Given the description of an element on the screen output the (x, y) to click on. 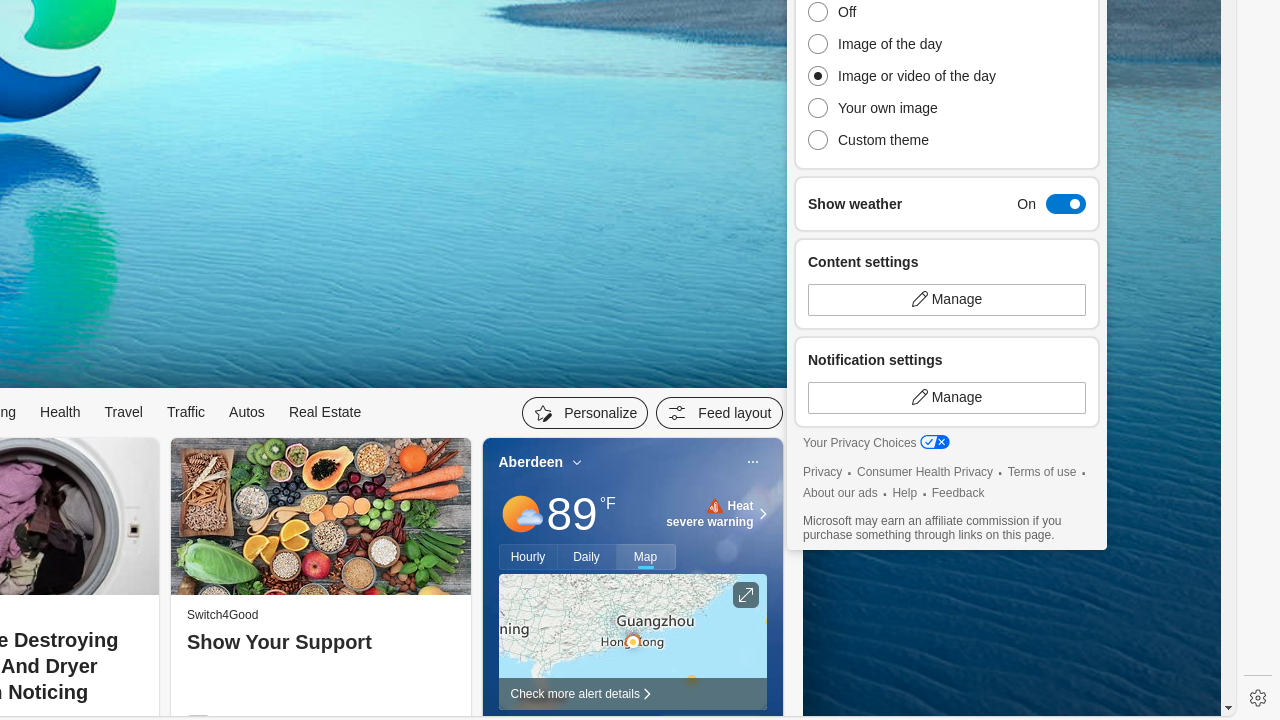
Terms of use Element type: link (1042, 472)
My location Element type: push-button (577, 462)
Aberdeen Element type: link (531, 462)
Image or video of the day Element type: radio-button (907, 76)
Traffic Element type: link (186, 412)
